Given the description of an element on the screen output the (x, y) to click on. 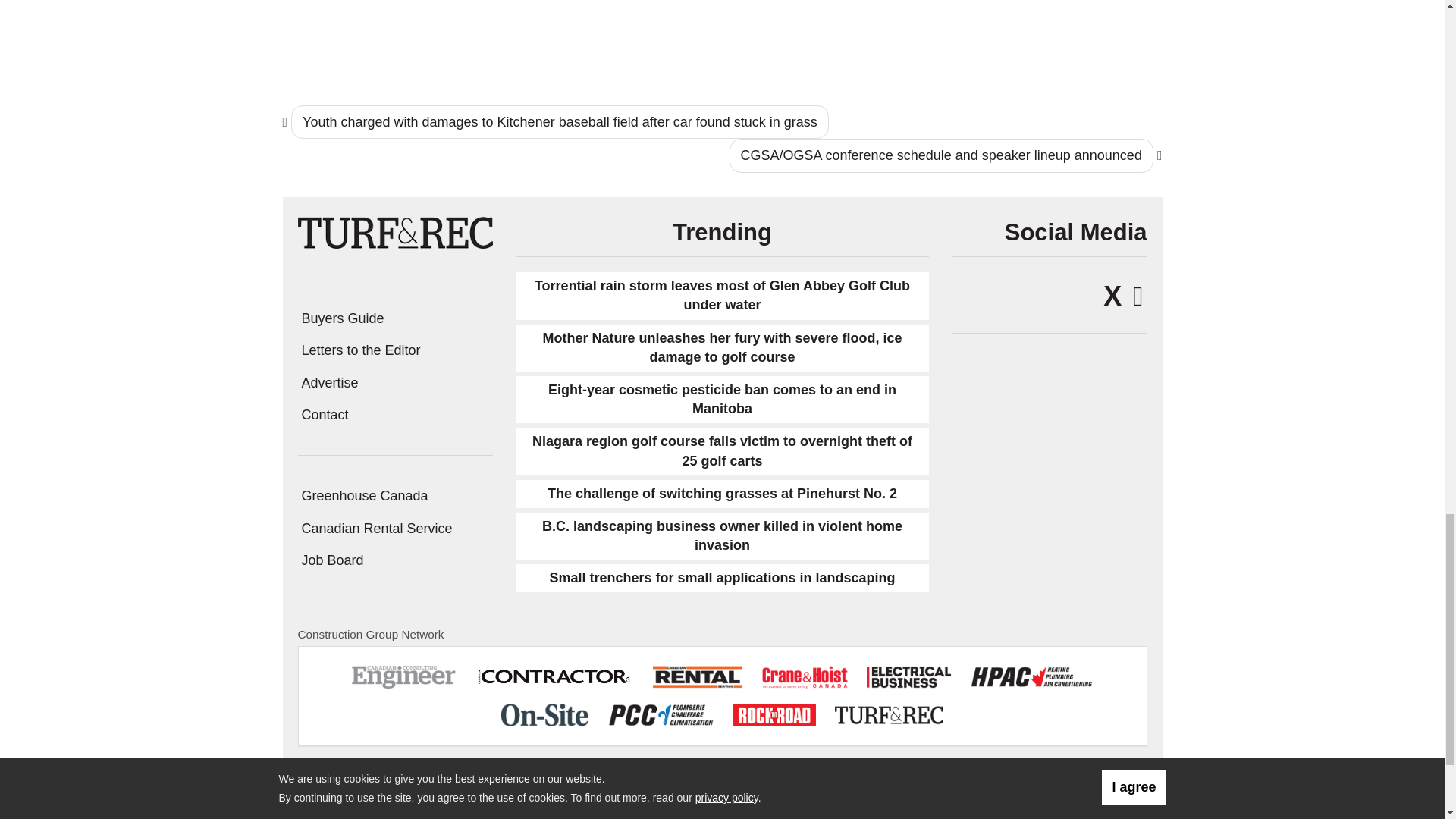
Annex Business Media (1077, 782)
